Given the description of an element on the screen output the (x, y) to click on. 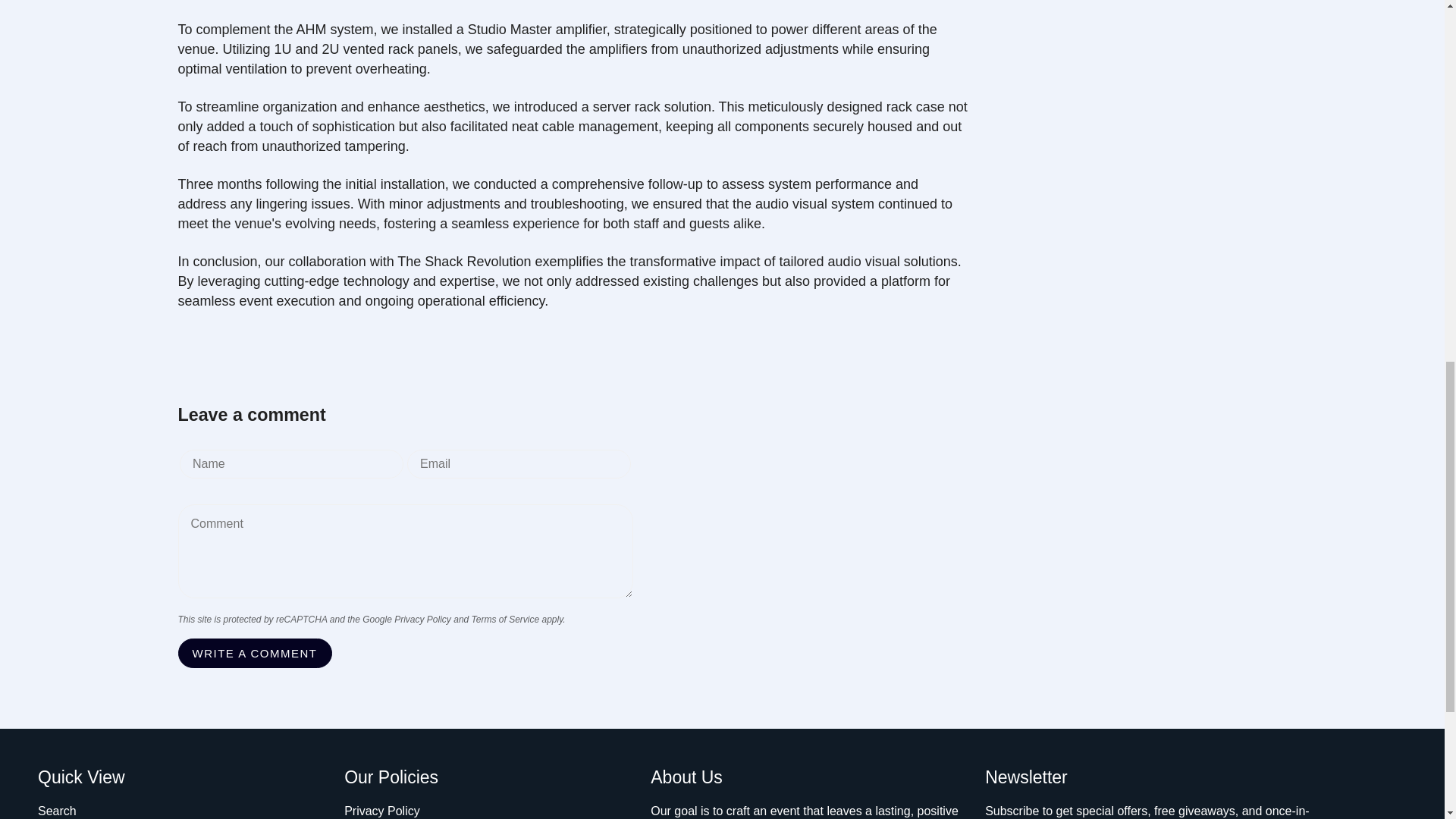
Write a comment (254, 653)
